Given the description of an element on the screen output the (x, y) to click on. 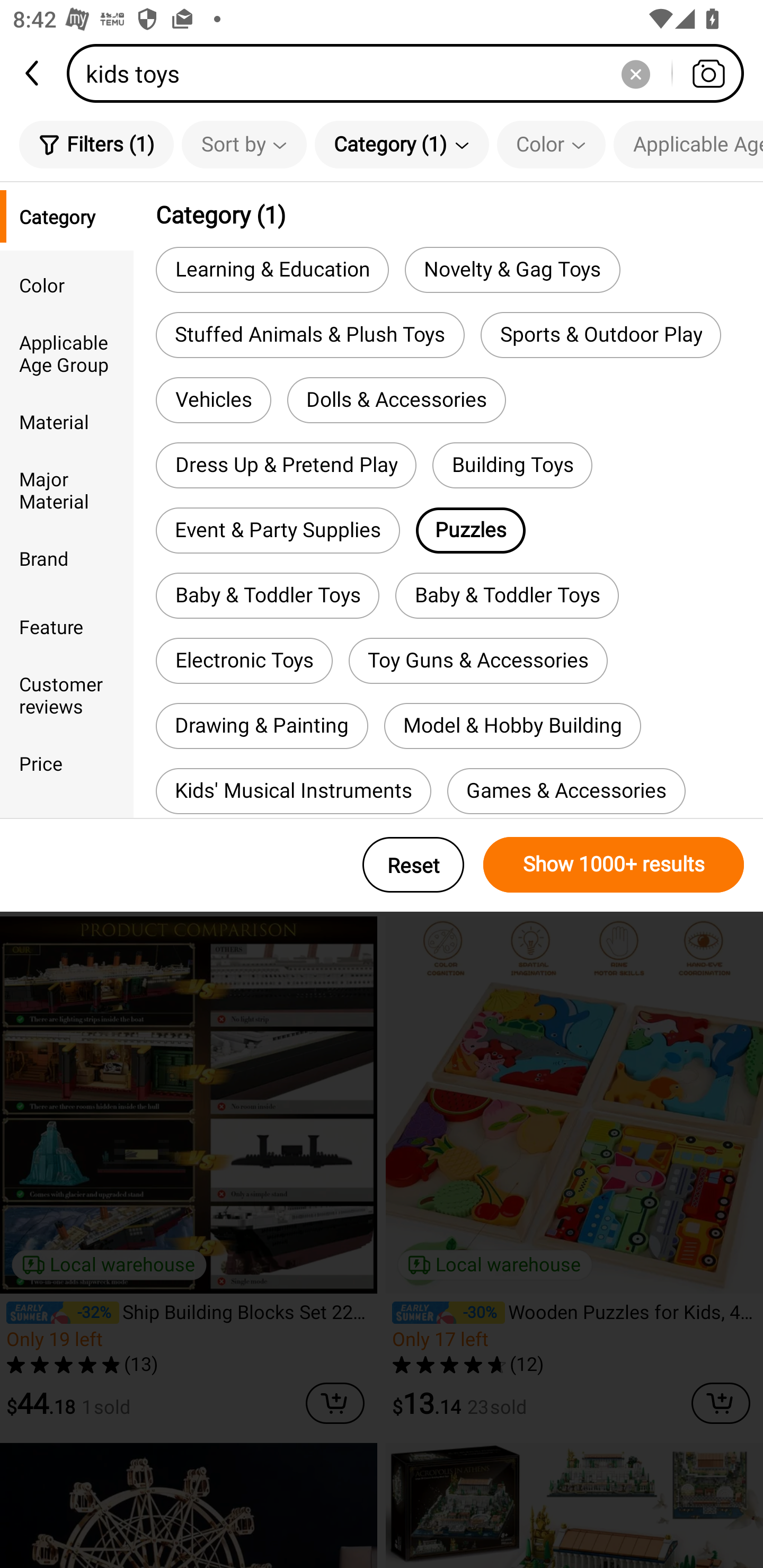
back (33, 72)
kids toys (411, 73)
Delete search history (635, 73)
Search by photo (708, 73)
Filters (1) (96, 143)
Sort by (243, 143)
Category (1) (401, 143)
Color (550, 143)
Applicable Age Group (688, 143)
Category (66, 215)
Learning & Education (272, 269)
Novelty & Gag Toys (512, 269)
Color (66, 284)
Stuffed Animals & Plush Toys (309, 334)
Sports & Outdoor Play (600, 334)
Applicable Age Group (66, 352)
Vehicles (213, 400)
Dolls & Accessories (395, 400)
Material (66, 421)
Dress Up & Pretend Play (285, 464)
Building Toys (512, 464)
Major Material (66, 489)
Event & Party Supplies (277, 530)
Puzzles (470, 530)
Brand (66, 557)
Baby & Toddler Toys (267, 595)
Baby & Toddler Toys (506, 595)
Feature (66, 626)
Electronic Toys (243, 660)
Toy Guns & Accessories (478, 660)
Customer reviews (66, 694)
Drawing & Painting (261, 725)
Model & Hobby Building (511, 725)
Price (66, 762)
Kids' Musical Instruments (293, 790)
Games & Accessories (566, 790)
Reset (412, 864)
Show 1000+ results (612, 864)
